Given the description of an element on the screen output the (x, y) to click on. 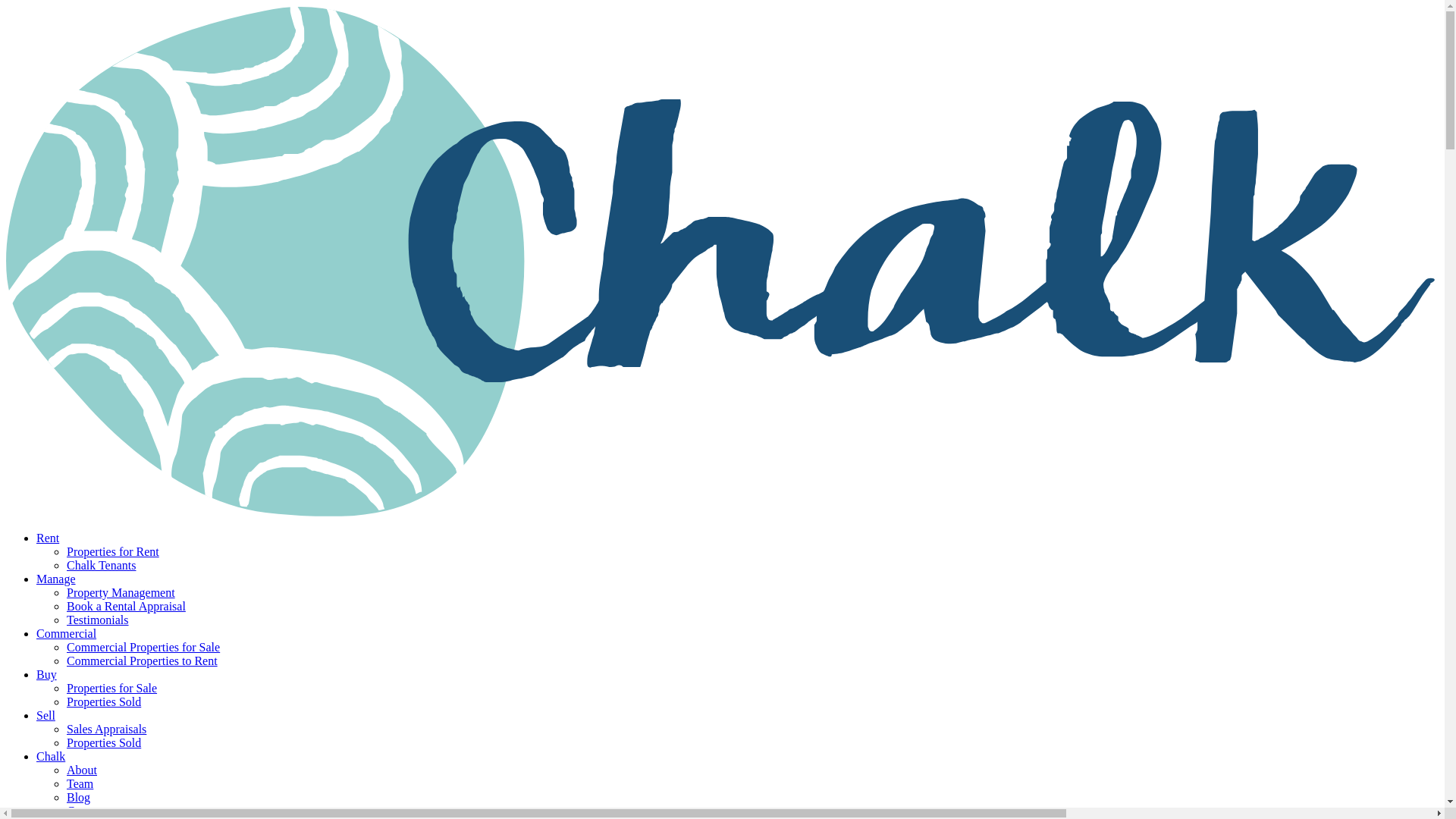
Properties for Sale (111, 687)
Commercial Properties to Rent (141, 660)
Properties Sold (103, 742)
Commercial (66, 633)
Properties for Rent (112, 551)
Chalk (50, 756)
Chalk Tenants (100, 564)
Book a Rental Appraisal (126, 605)
Testimonials (97, 619)
Team (79, 783)
Rent (47, 537)
Commercial Properties for Sale (142, 646)
Blog (78, 797)
Sales Appraisals (106, 728)
